Given the description of an element on the screen output the (x, y) to click on. 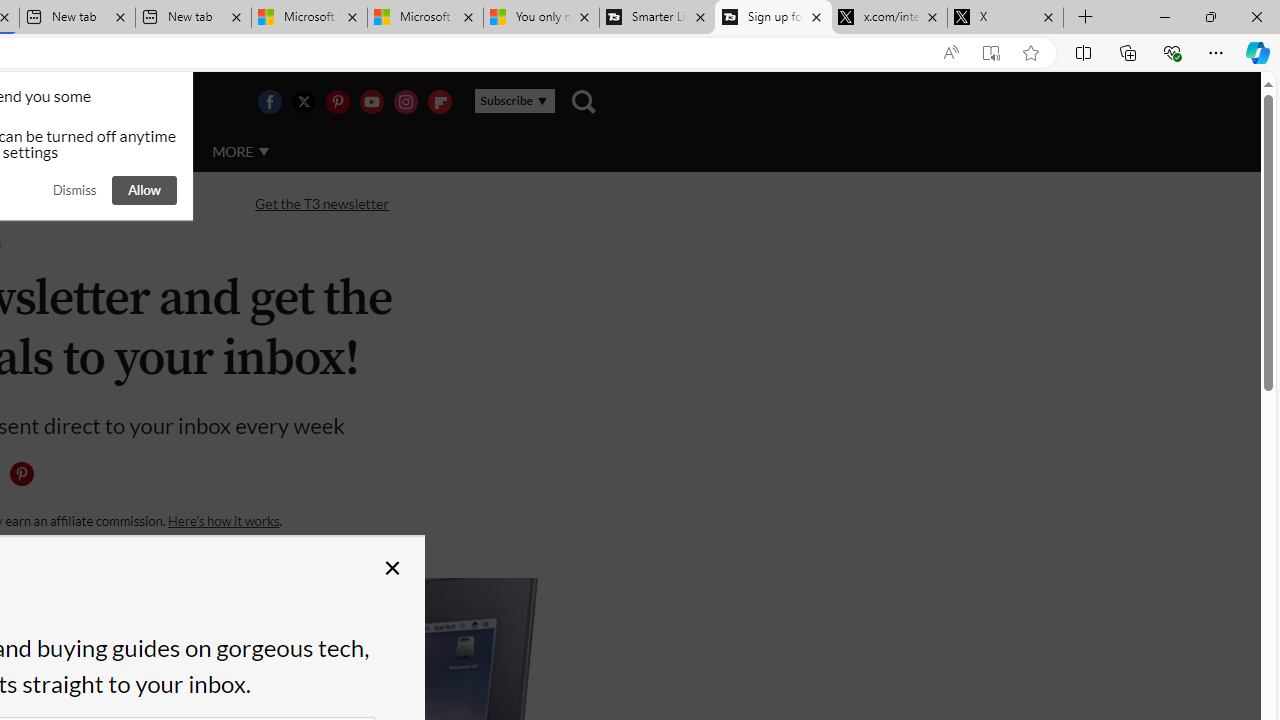
Subscribe (514, 101)
LUXURY (66, 151)
Microsoft Start Sports (309, 17)
Enter Immersive Reader (F9) (991, 53)
Streaming TV and movies (105, 204)
Visit us on Twitter (303, 101)
Share this page on Pintrest (21, 474)
LUXURY (66, 151)
Visit us on Youtube (371, 101)
X (1005, 17)
Smarter Living | T3 (657, 17)
